Given the description of an element on the screen output the (x, y) to click on. 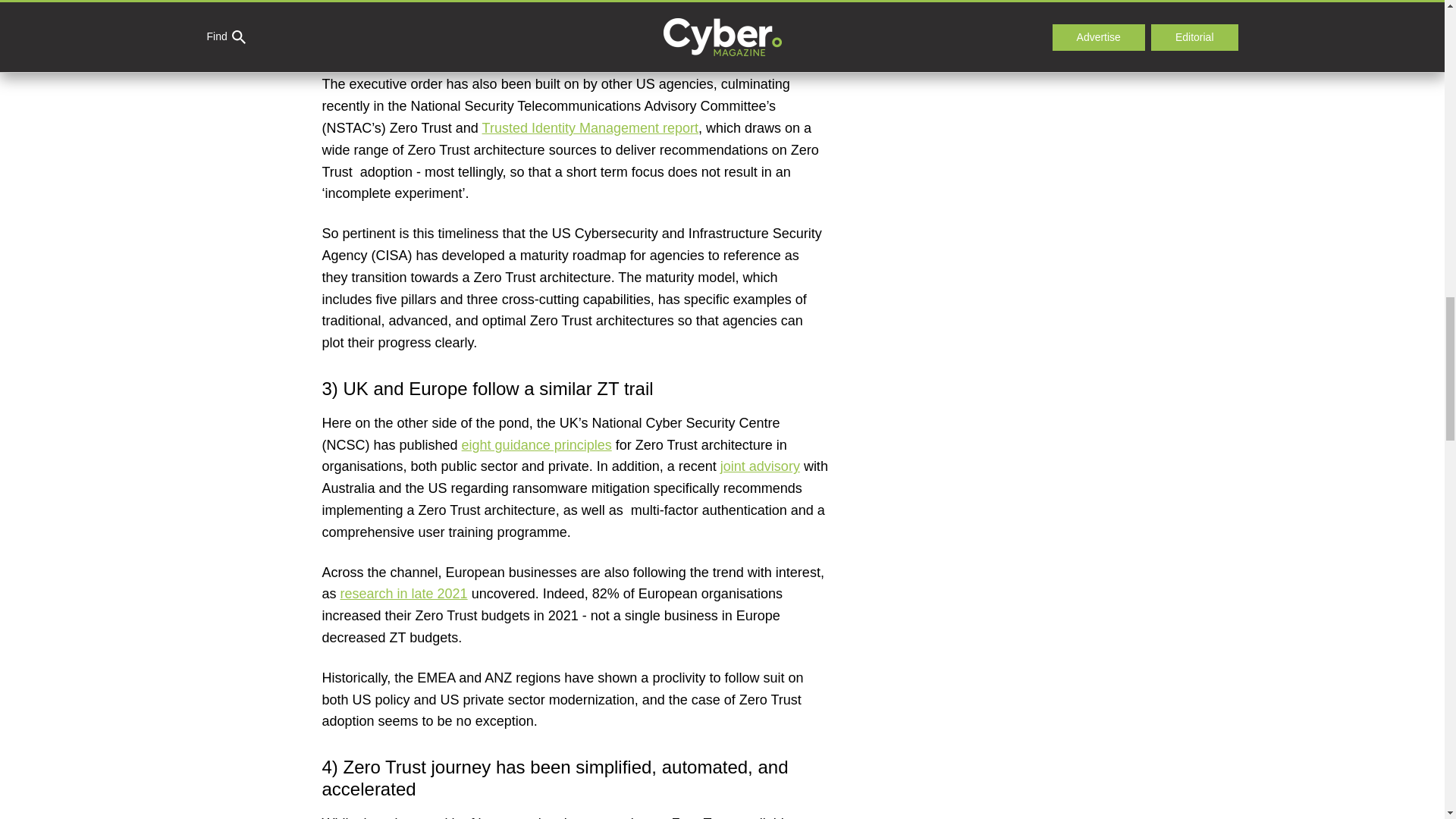
joint advisory (759, 466)
research in late 2021 (403, 593)
eight guidance principles (536, 444)
Trusted Identity Management report (589, 127)
